Given the description of an element on the screen output the (x, y) to click on. 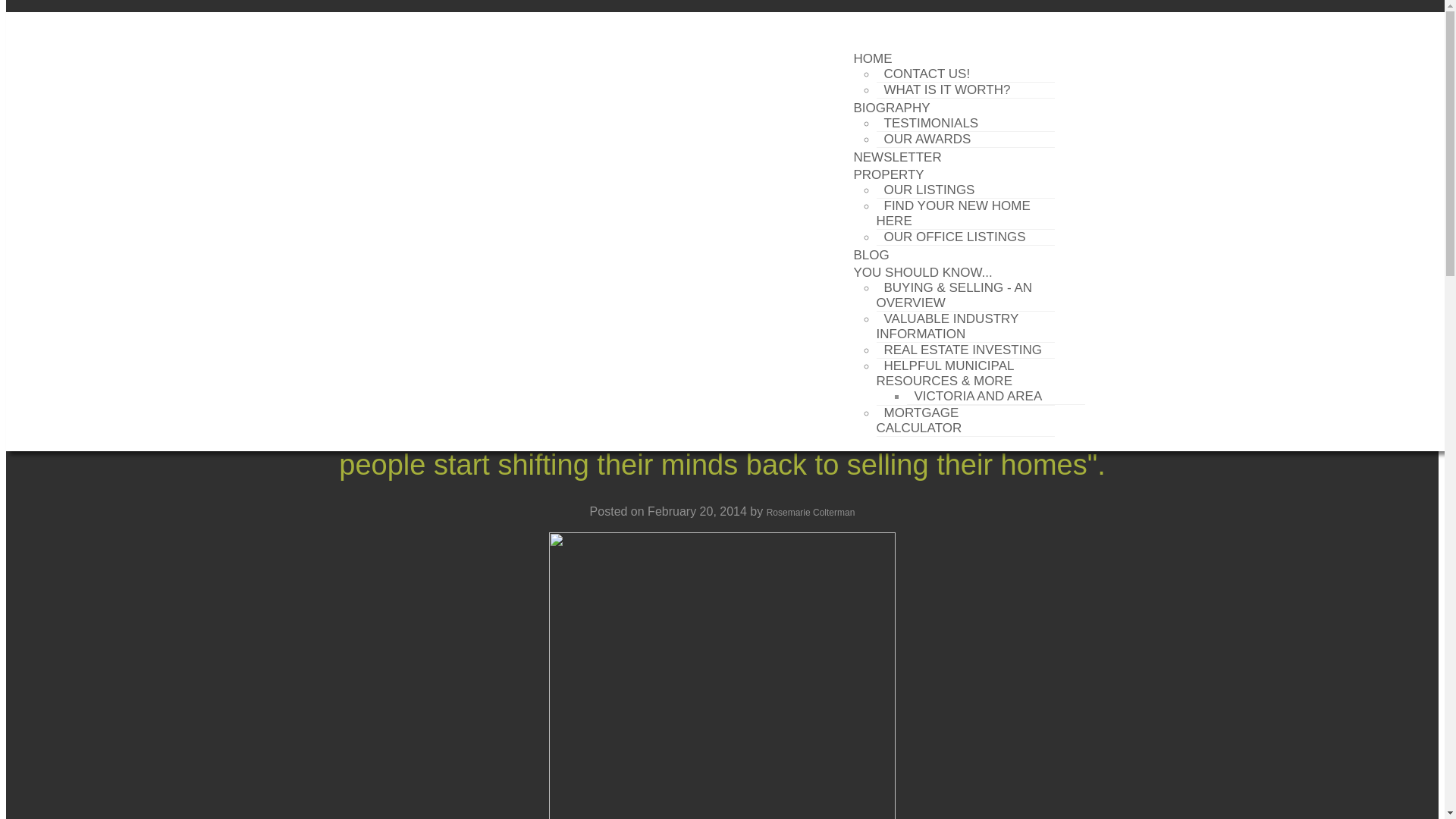
OUR OFFICE LISTINGS (954, 236)
NEWSLETTER (897, 157)
VALUABLE INDUSTRY INFORMATION (947, 326)
OUR AWARDS (927, 139)
REAL ESTATE INVESTING (962, 349)
WHAT IS IT WORTH? (946, 89)
HOME (872, 58)
MORTGAGE CALCULATOR (922, 419)
BIOGRAPHY (891, 107)
SIGN UP (328, 22)
CONTACT US! (927, 73)
OUR LISTINGS (929, 189)
TESTIMONIALS (931, 122)
PROPERTY (888, 174)
778 433-6064 (978, 22)
